Given the description of an element on the screen output the (x, y) to click on. 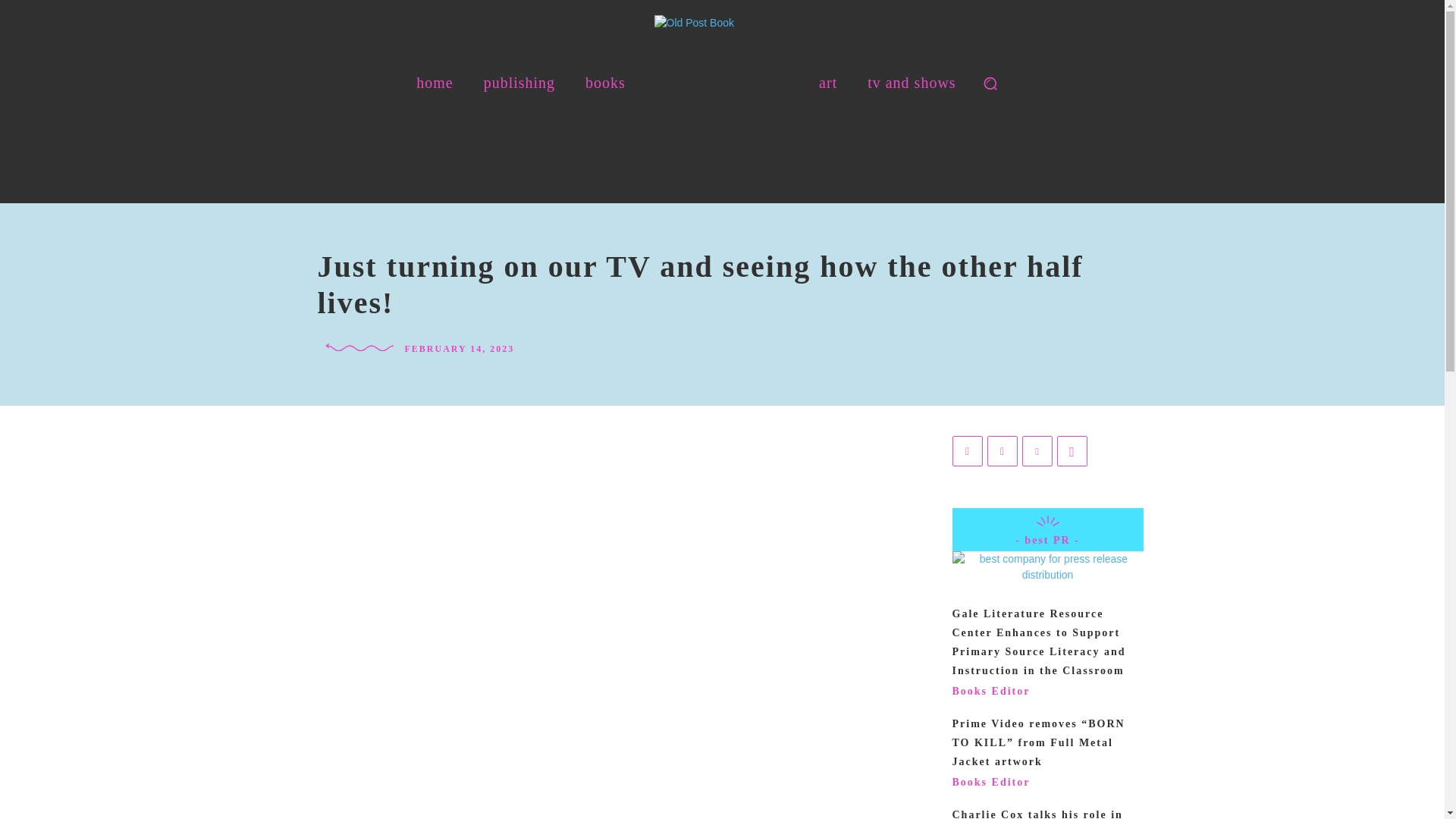
art (827, 82)
books (605, 83)
Books Editor (991, 781)
Twitter (1002, 450)
tv and shows (911, 82)
Facebook (967, 450)
Books Editor (991, 690)
publishing (519, 83)
Pinterest (1037, 450)
home (434, 83)
WhatsApp (1072, 450)
